Given the description of an element on the screen output the (x, y) to click on. 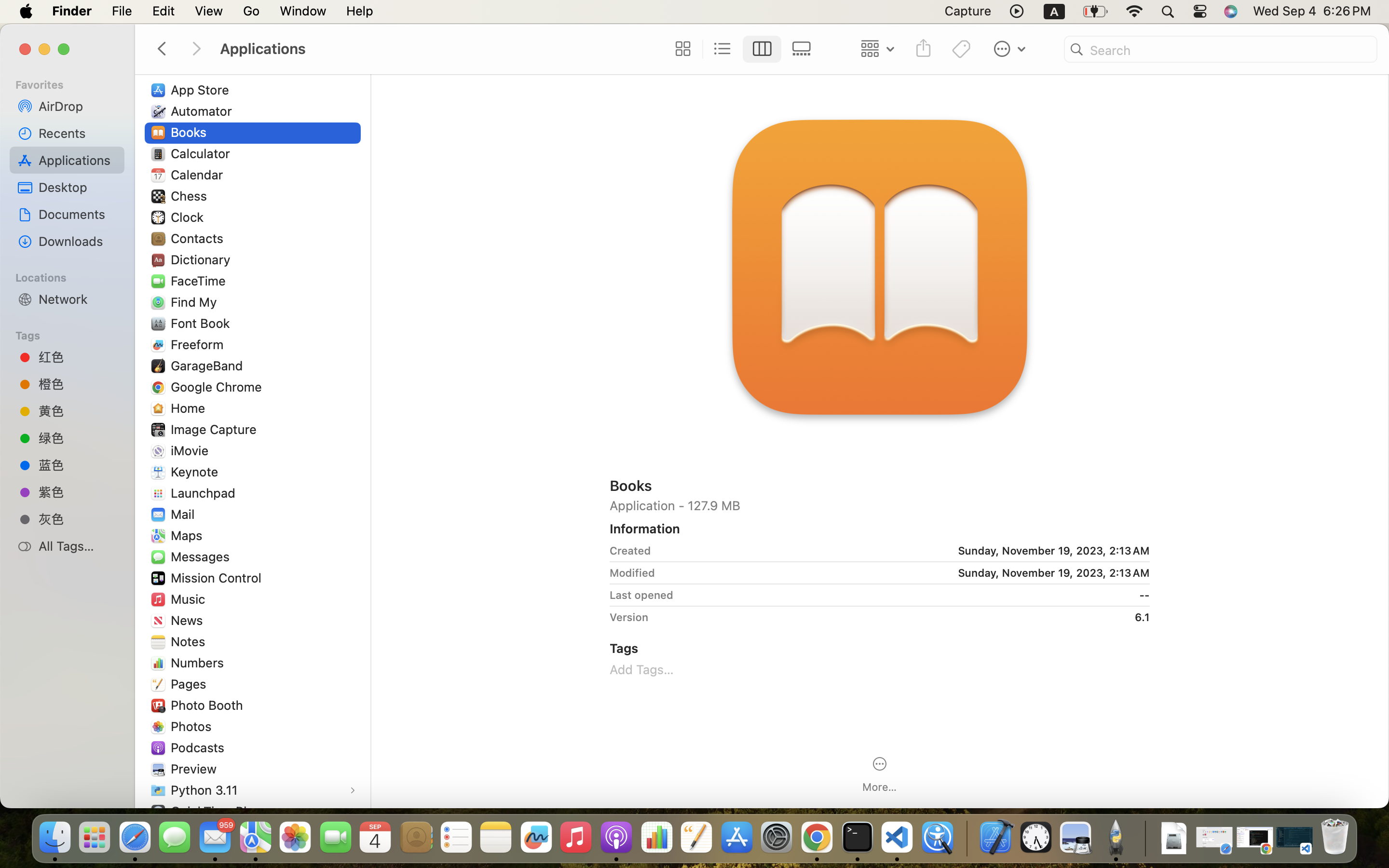
Podcasts Element type: AXTextField (199, 747)
iMovie Element type: AXTextField (191, 450)
Last opened Element type: AXStaticText (641, 594)
Font Book Element type: AXTextField (202, 322)
Music Element type: AXTextField (189, 598)
